Given the description of an element on the screen output the (x, y) to click on. 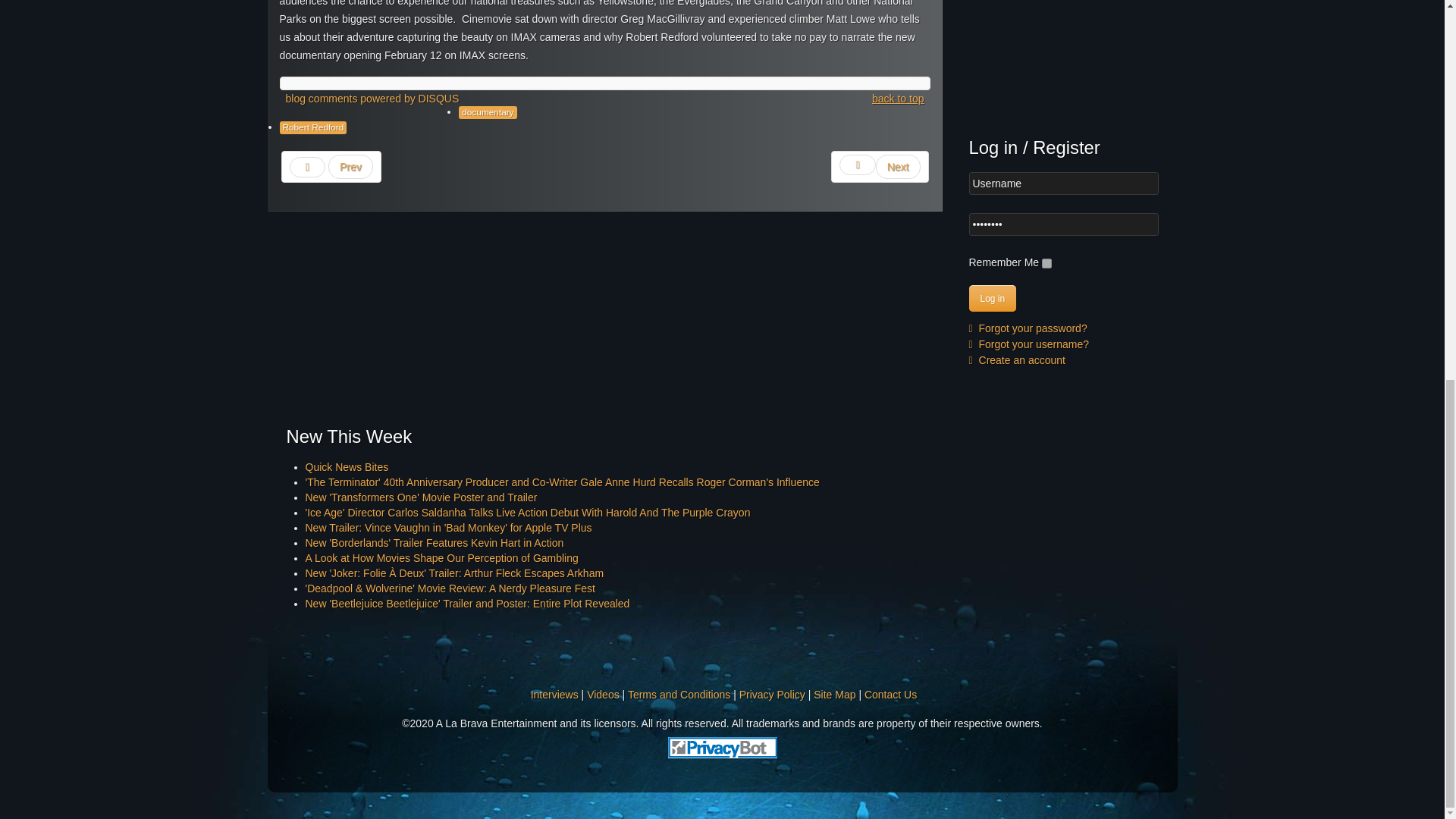
Forgot your username? (1029, 344)
Privacy Bot Seal (721, 746)
Contact CineMovie (890, 694)
back to top (898, 99)
A Look at How Movies Shape Our Perception of Gambling (441, 558)
pbseal (721, 747)
documentary (487, 112)
Video and Article Interviews (554, 694)
Log in (992, 298)
blog comments powered by DISQUS (371, 99)
Log in (992, 298)
Next (879, 166)
